Given the description of an element on the screen output the (x, y) to click on. 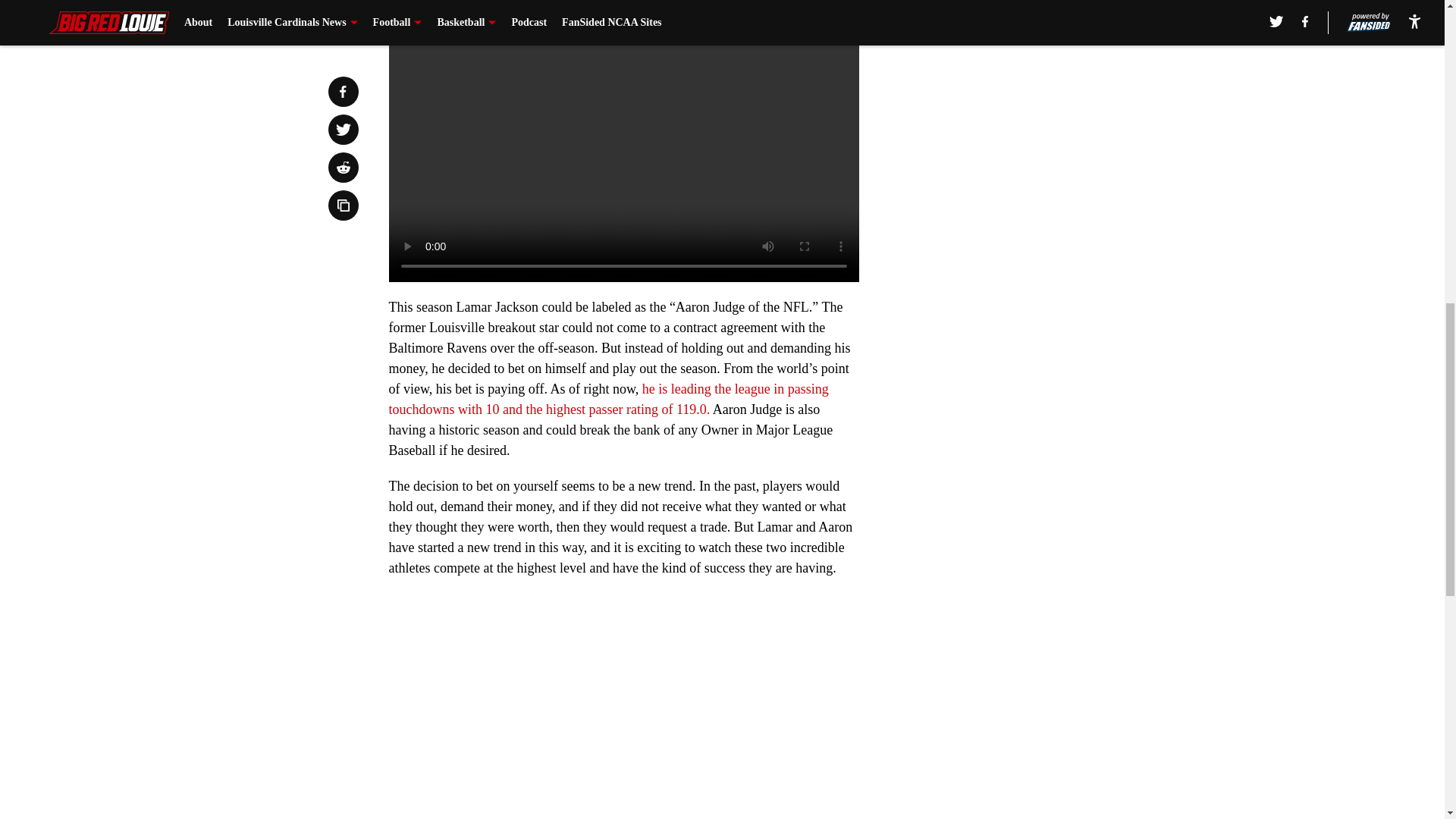
3rd party ad content (1047, 332)
3rd party ad content (1047, 113)
